Given the description of an element on the screen output the (x, y) to click on. 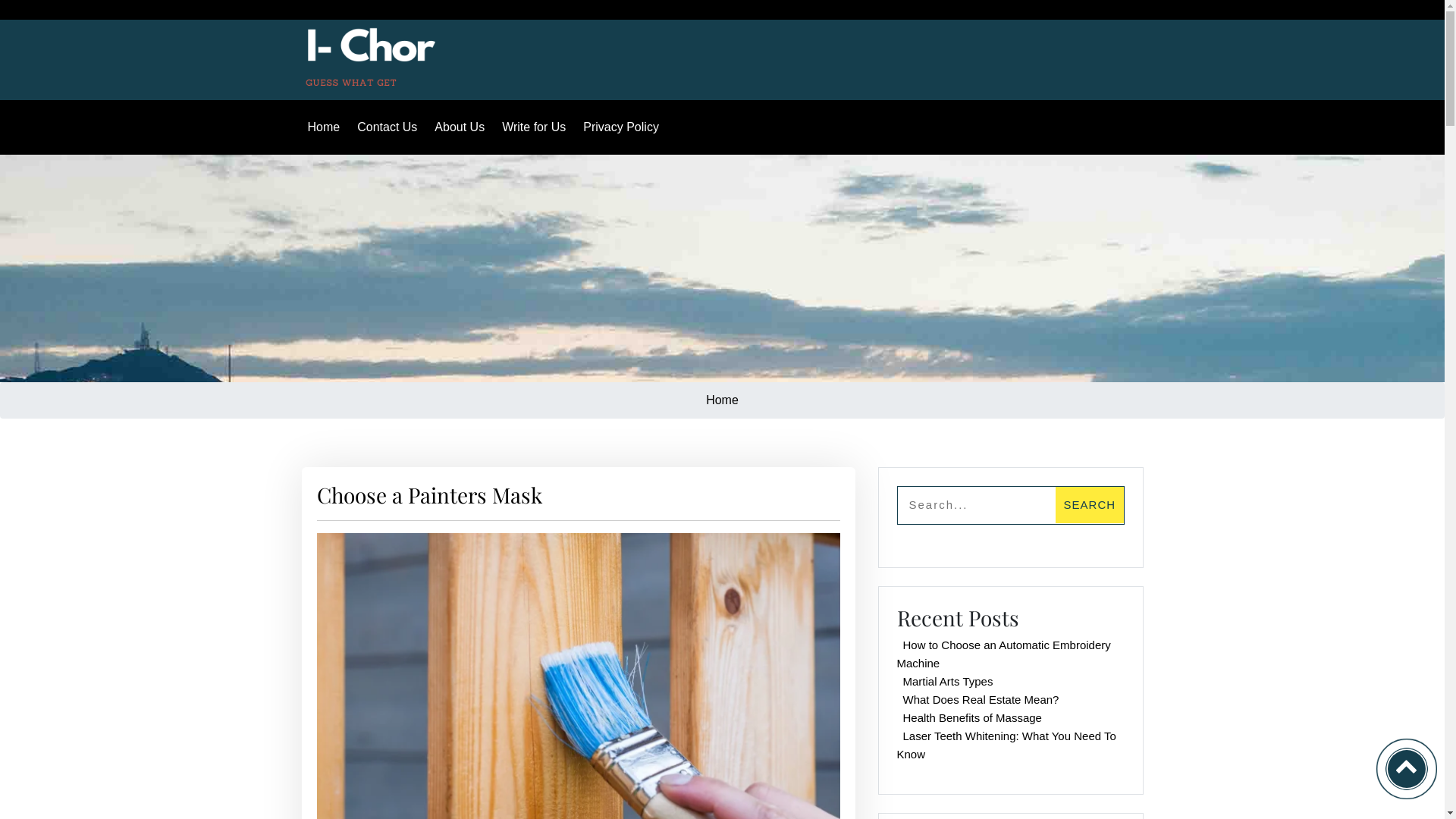
Search Element type: text (1089, 504)
Laser Teeth Whitening: What You Need To Know Element type: text (1005, 744)
Health Benefits of Massage Element type: text (971, 717)
About Us Element type: text (461, 127)
How to Choose an Automatic Embroidery Machine Element type: text (1003, 653)
What Does Real Estate Mean? Element type: text (980, 699)
Choose a Painters Mask Element type: hover (377, 53)
Write for Us Element type: text (536, 127)
Martial Arts Types Element type: text (947, 680)
Home Element type: text (326, 127)
Contact Us Element type: text (389, 127)
Choose a Painters Mask Element type: text (429, 494)
Privacy Policy Element type: text (623, 127)
Home Element type: text (722, 399)
